Given the description of an element on the screen output the (x, y) to click on. 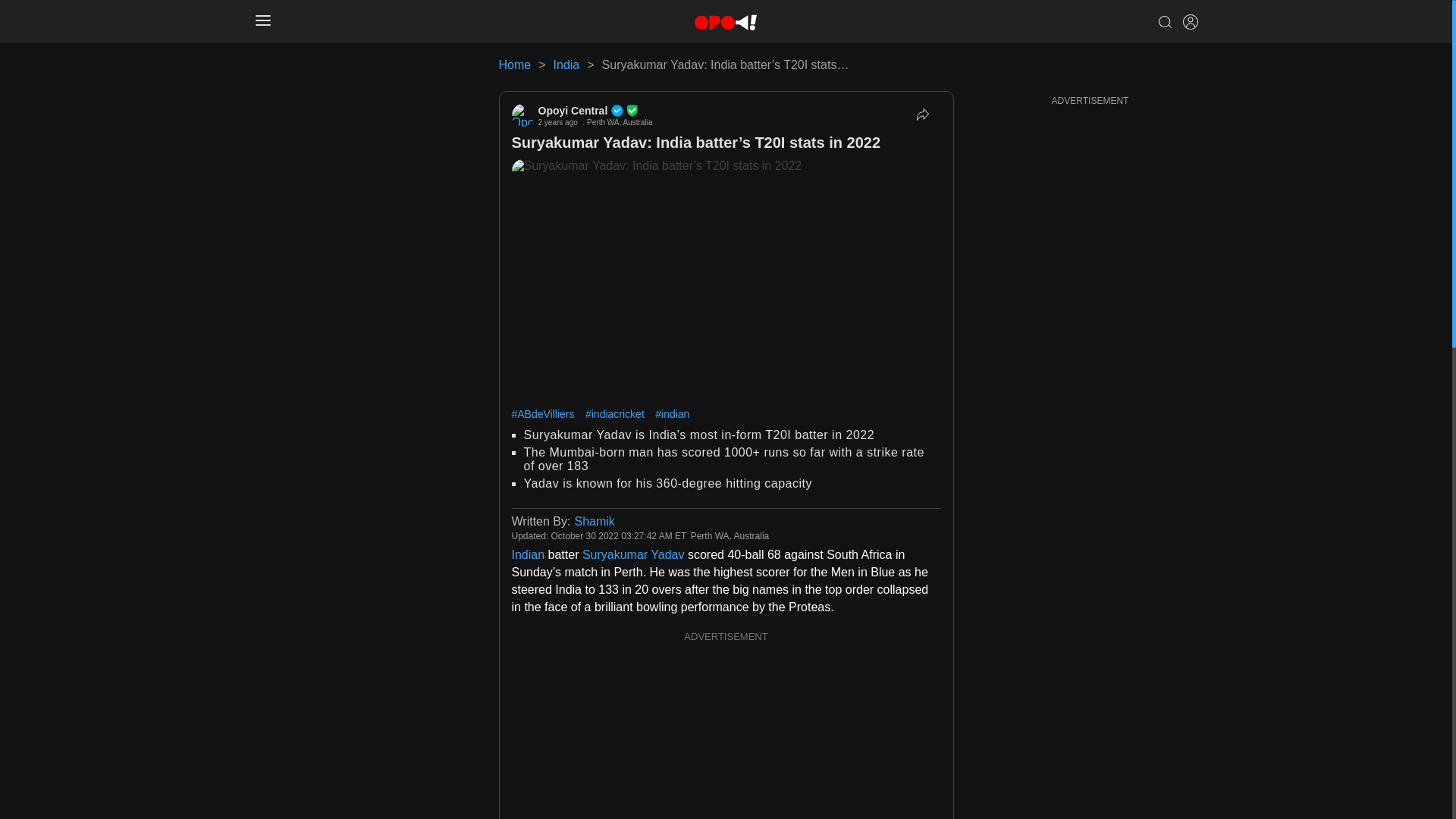
India (566, 64)
Home (515, 64)
Shamik (593, 521)
Opoyi Central (595, 110)
Opoyi Central (595, 110)
 Opoyi Central (522, 115)
